Given the description of an element on the screen output the (x, y) to click on. 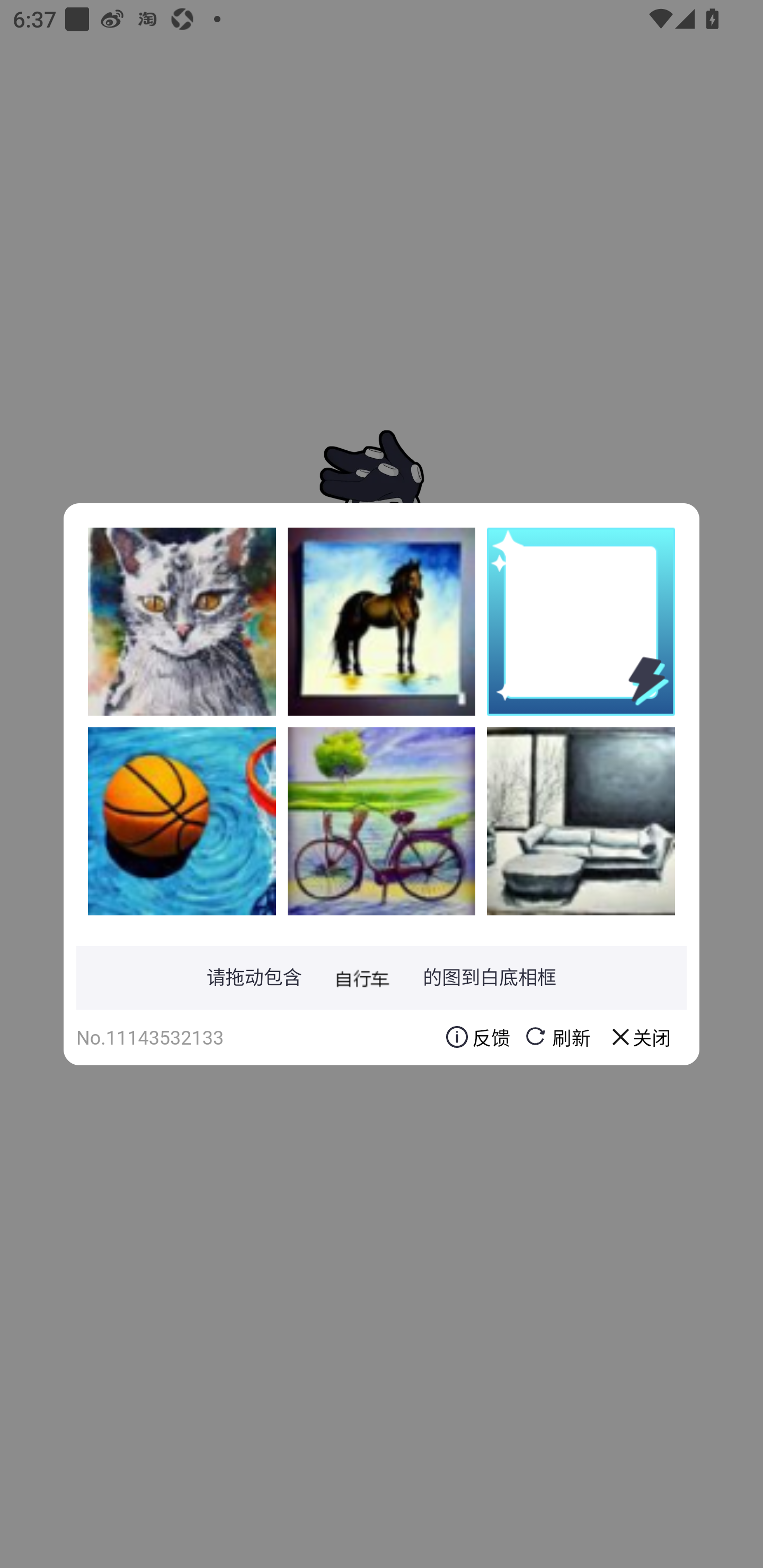
eSOb (381, 820)
